Given the description of an element on the screen output the (x, y) to click on. 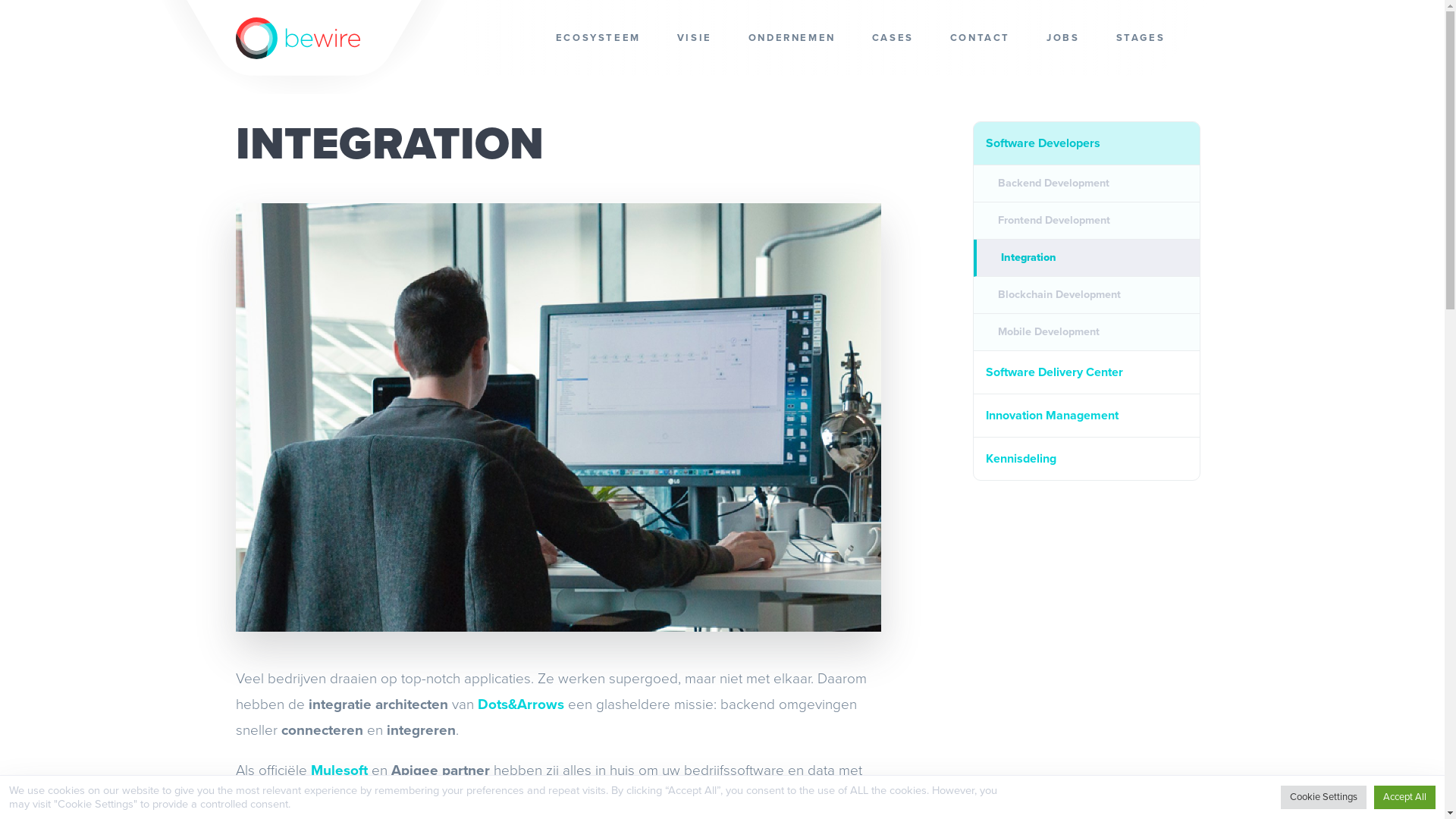
JOBS Element type: text (1062, 37)
Software Delivery Center Element type: text (1086, 372)
CASES Element type: text (892, 37)
Mulesoft Element type: text (338, 770)
Kennisdeling Element type: text (1086, 458)
Integration Element type: text (1086, 257)
Dots&Arrows Element type: text (520, 704)
Cookie Settings Element type: text (1323, 797)
Frontend Development Element type: text (1086, 220)
CONTACT Element type: text (979, 37)
ONDERNEMEN Element type: text (791, 37)
Software Developers Element type: text (1086, 143)
STAGES Element type: text (1140, 37)
ECOSYSTEEM Element type: text (597, 37)
Innovation Management Element type: text (1086, 415)
VISIE Element type: text (694, 37)
Backend Development Element type: text (1086, 183)
Blockchain Development Element type: text (1086, 294)
Mobile Development Element type: text (1086, 332)
Accept All Element type: text (1404, 797)
